Given the description of an element on the screen output the (x, y) to click on. 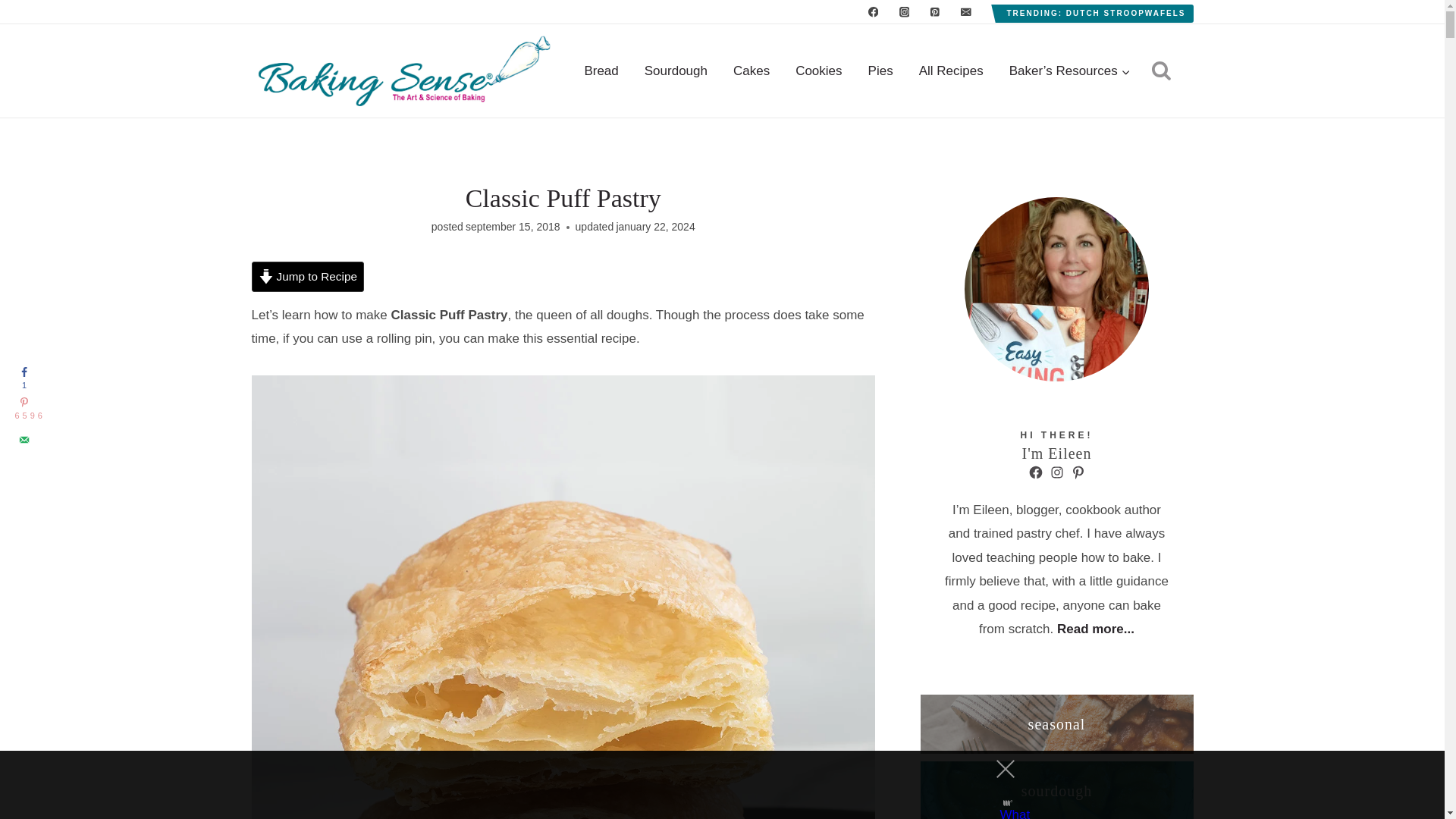
Bread (600, 70)
Share on Facebook (23, 378)
Jump to Recipe (307, 276)
Pies (880, 70)
Save to Pinterest (23, 409)
Sourdough (675, 70)
TRENDING: DUTCH STROOPWAFELS (1095, 13)
Cakes (751, 70)
Send over email (23, 440)
Cookies (818, 70)
3rd party ad content (708, 785)
All Recipes (950, 70)
